Given the description of an element on the screen output the (x, y) to click on. 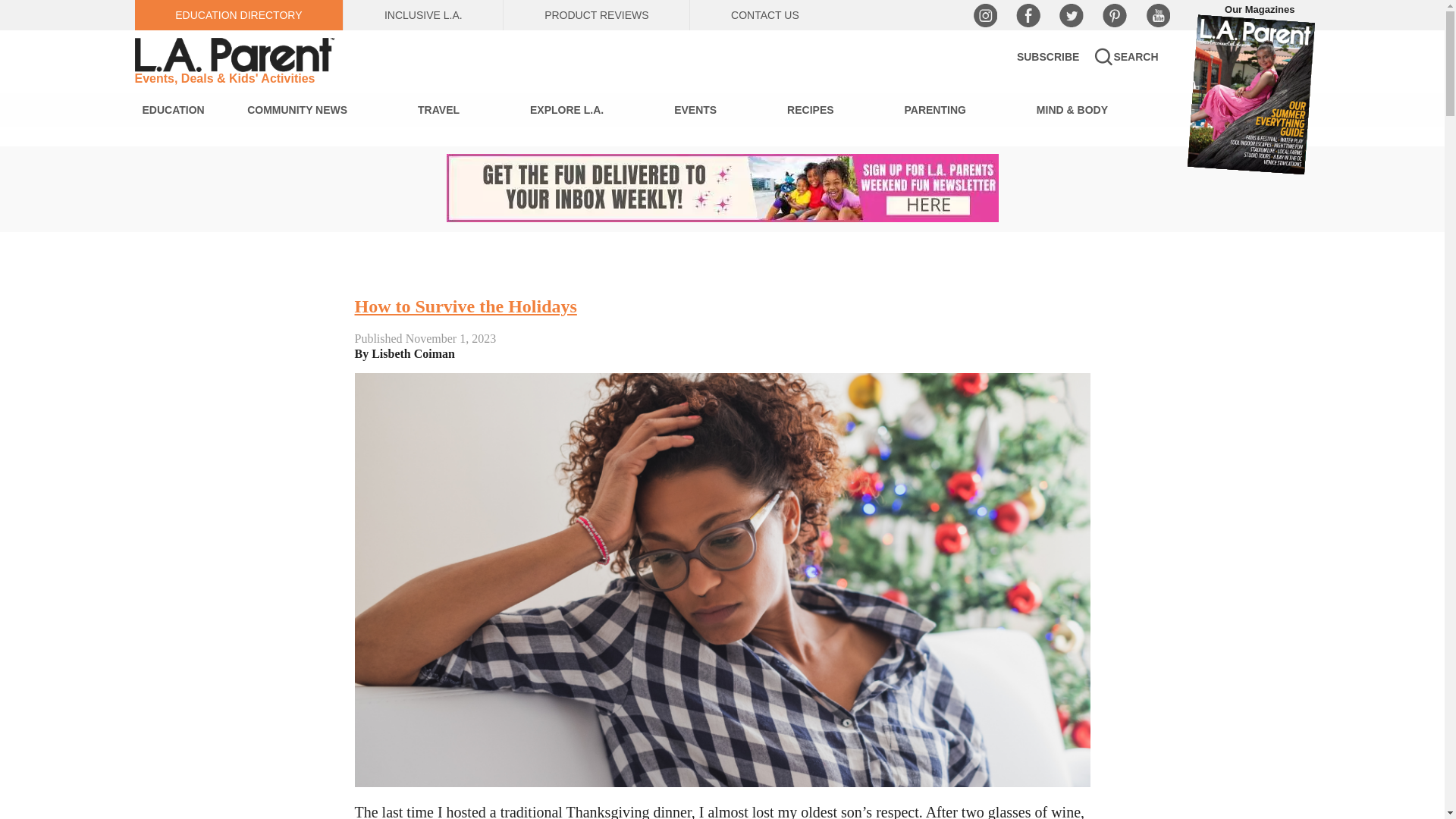
Facebook (1028, 15)
INCLUSIVE L.A. (422, 15)
Twitter (1070, 15)
Instagram (983, 15)
SUBSCRIBE (1047, 56)
YouTube (1156, 15)
Pinterest (1114, 15)
CONTACT US (765, 15)
L.A. Parent (237, 54)
PRODUCT REVIEWS (595, 15)
